Given the description of an element on the screen output the (x, y) to click on. 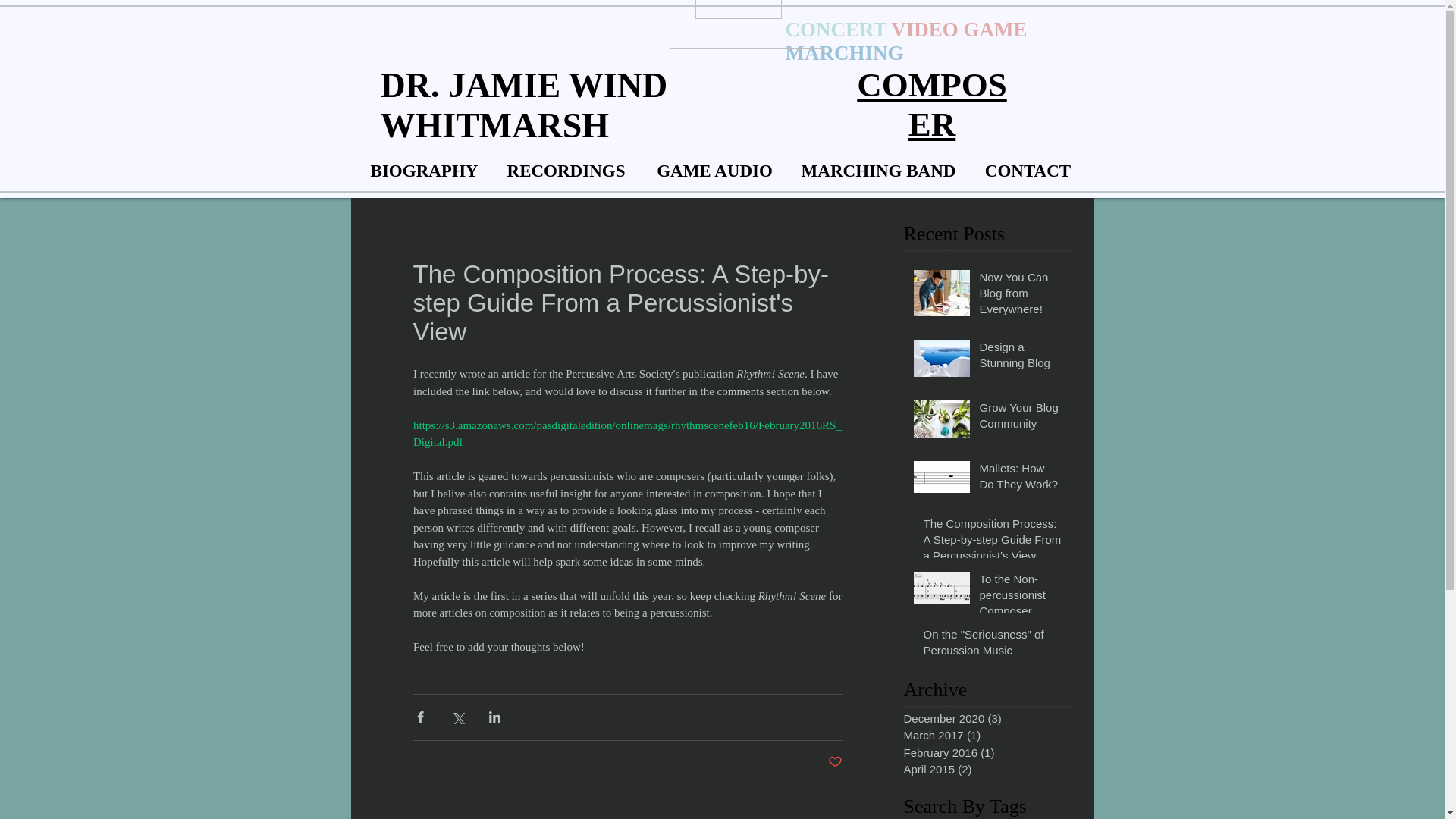
RECORDINGS (566, 164)
On the "Seriousness" of Percussion Music (992, 645)
Now You Can Blog from Everywhere! (1020, 295)
Grow Your Blog Community (1020, 418)
BIOGRAPHY (424, 164)
Post not marked as liked (835, 761)
GAME AUDIO (715, 164)
Mallets: How Do They Work? (1020, 478)
To the Non-percussionist Composer (1020, 597)
MARCHING BAND (879, 164)
Design a Stunning Blog (1020, 357)
CONTACT (1028, 164)
